Given the description of an element on the screen output the (x, y) to click on. 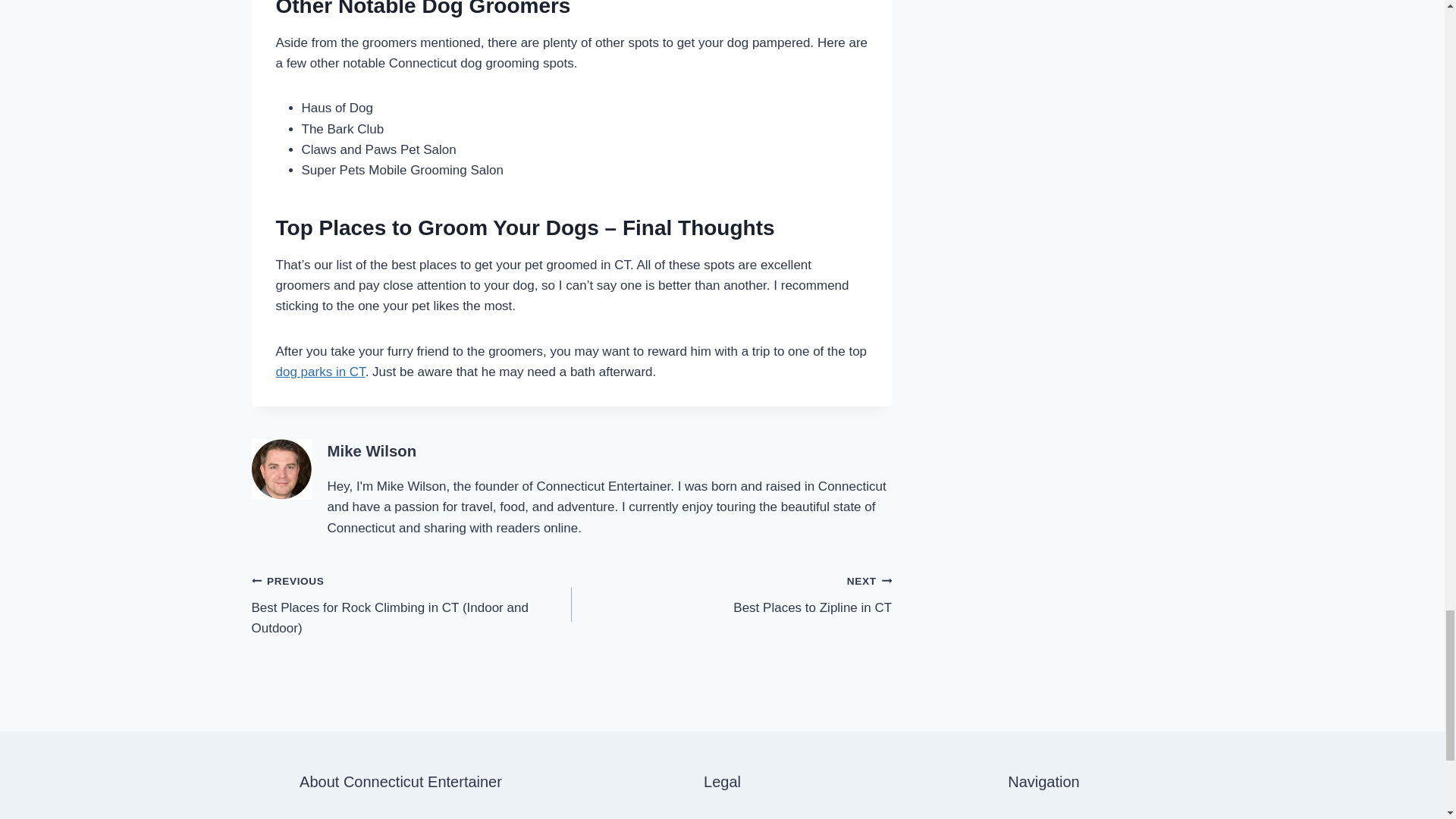
dog parks in CT (731, 594)
Mike Wilson (320, 371)
Posts by Mike Wilson (371, 451)
